Given the description of an element on the screen output the (x, y) to click on. 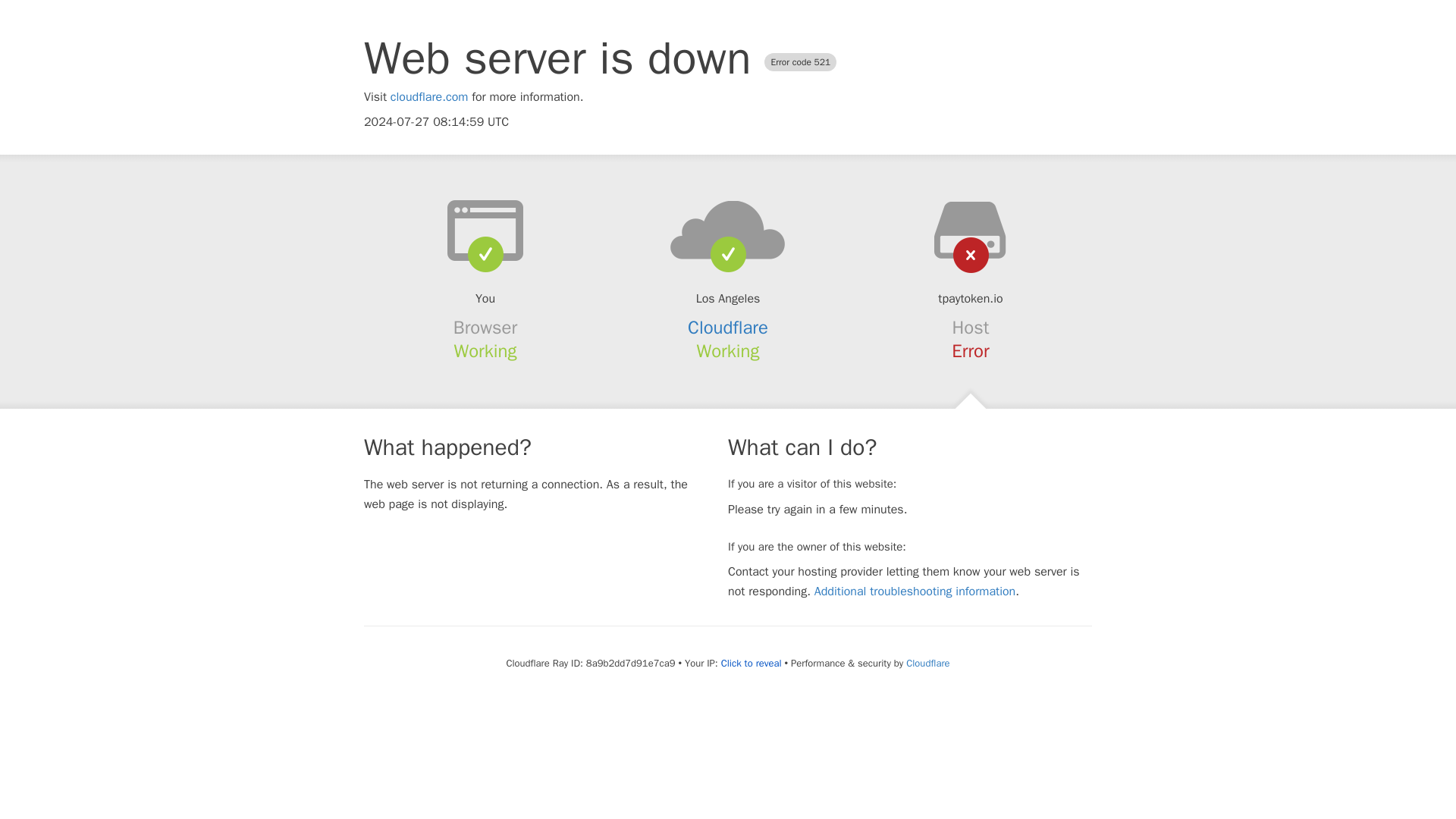
Click to reveal (750, 663)
Cloudflare (927, 662)
Cloudflare (727, 327)
cloudflare.com (429, 96)
Additional troubleshooting information (913, 590)
